Given the description of an element on the screen output the (x, y) to click on. 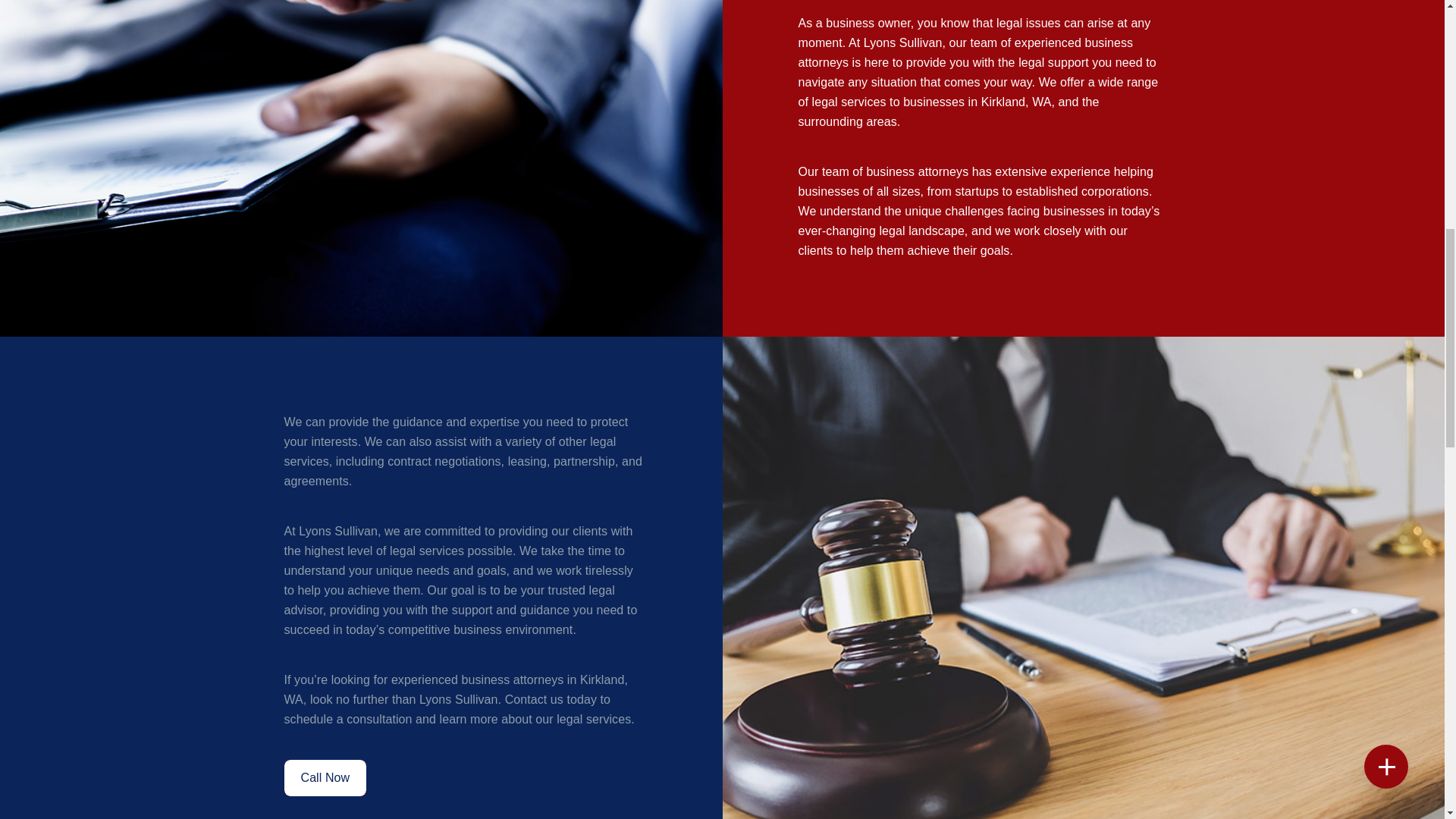
Call Now (324, 778)
